Given the description of an element on the screen output the (x, y) to click on. 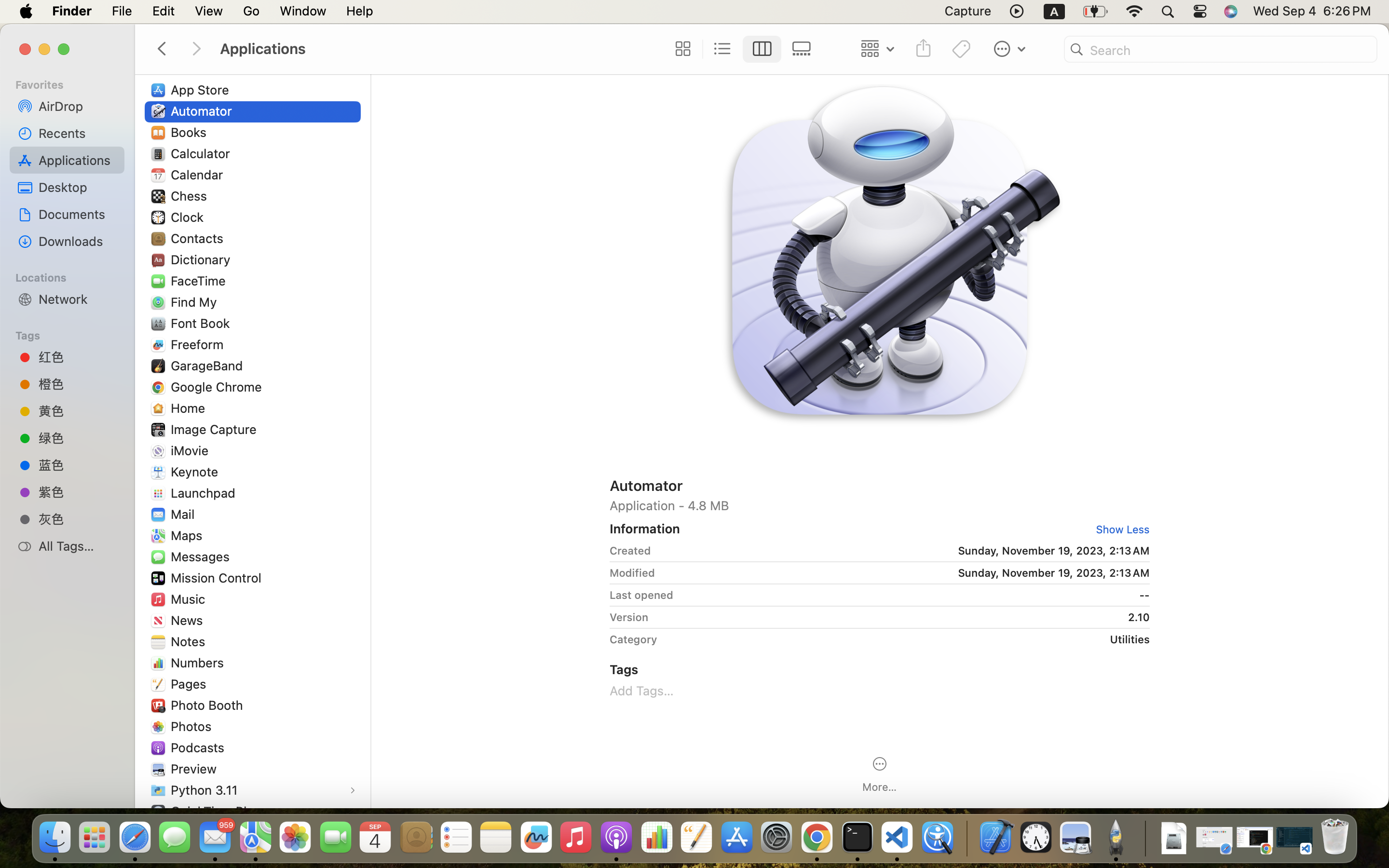
Applications Element type: AXStaticText (437, 49)
Mission Control Element type: AXTextField (218, 577)
橙色 Element type: AXStaticText (77, 383)
Modified Element type: AXStaticText (631, 572)
News Element type: AXTextField (188, 619)
